Given the description of an element on the screen output the (x, y) to click on. 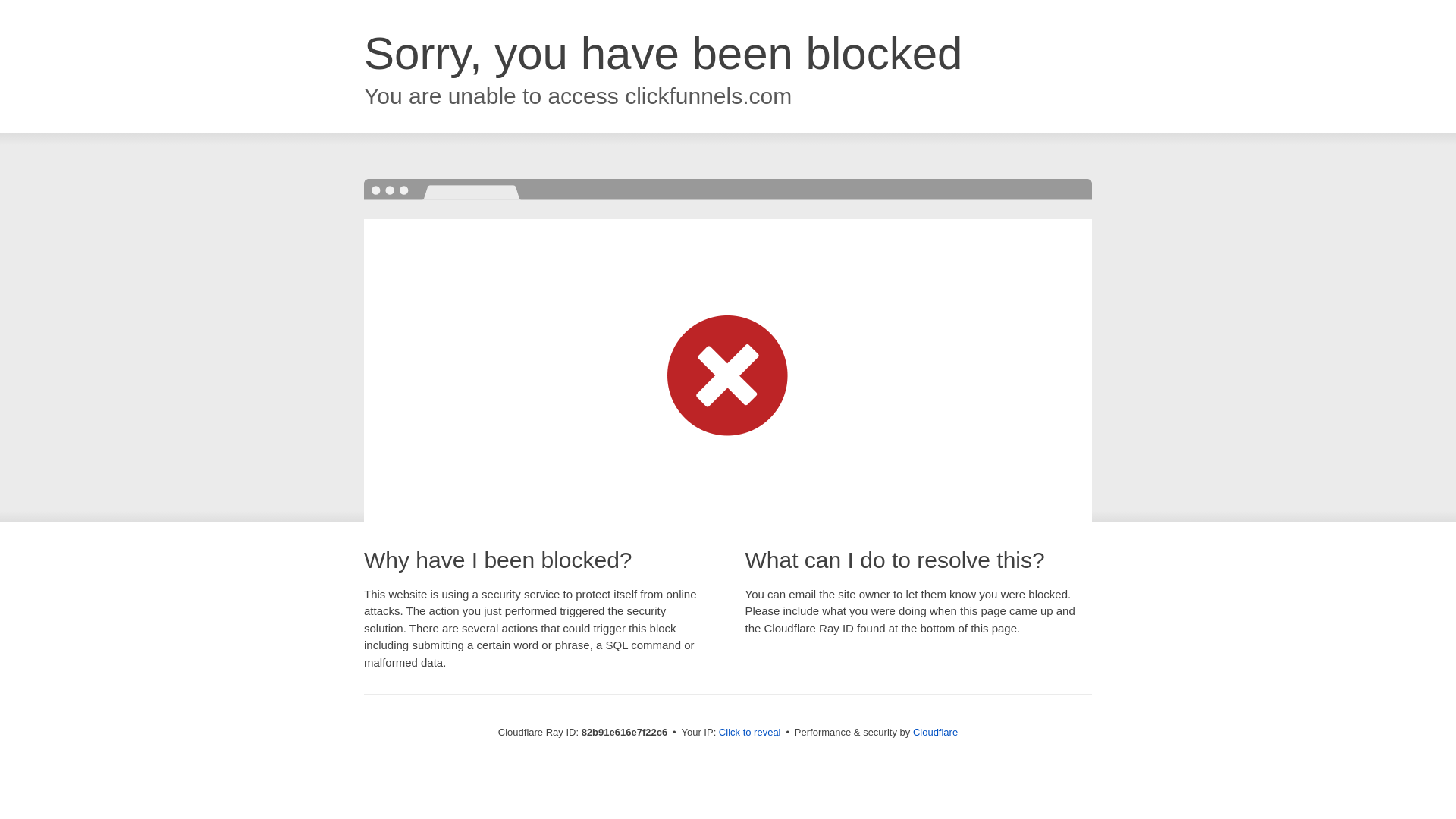
Click to reveal Element type: text (749, 732)
Cloudflare Element type: text (935, 731)
